Given the description of an element on the screen output the (x, y) to click on. 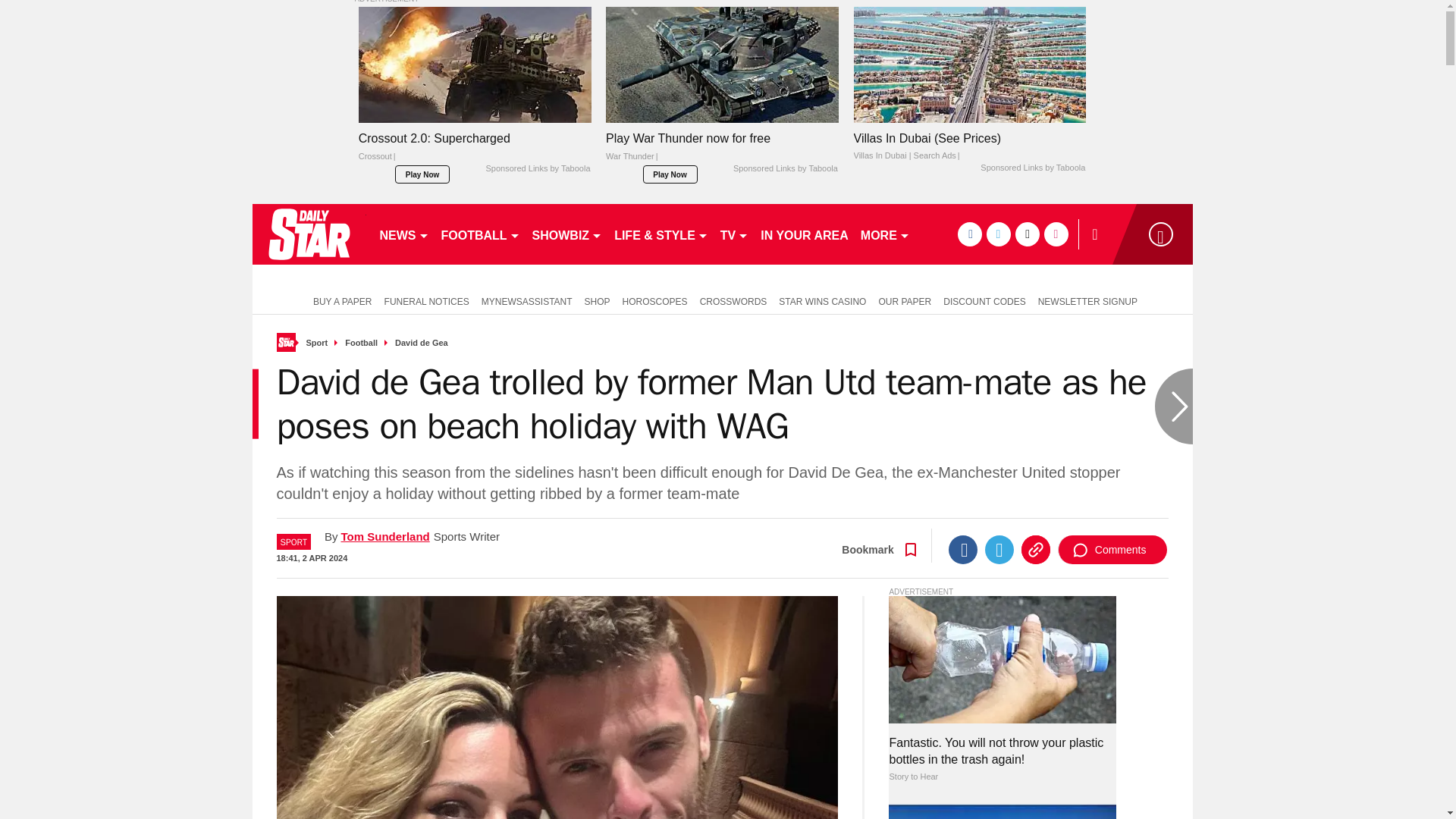
facebook (968, 233)
Play War Thunder now for free (721, 64)
Play War Thunder now for free (721, 151)
Play Now (421, 174)
Crossout 2.0: Supercharged (474, 64)
Sponsored Links by Taboola (785, 168)
SHOWBIZ (566, 233)
Sponsored Links by Taboola (536, 168)
NEWS (402, 233)
dailystar (308, 233)
Twitter (999, 549)
Sponsored Links by Taboola (1031, 167)
Crossout 2.0: Supercharged (474, 151)
Facebook (962, 549)
FOOTBALL (480, 233)
